Given the description of an element on the screen output the (x, y) to click on. 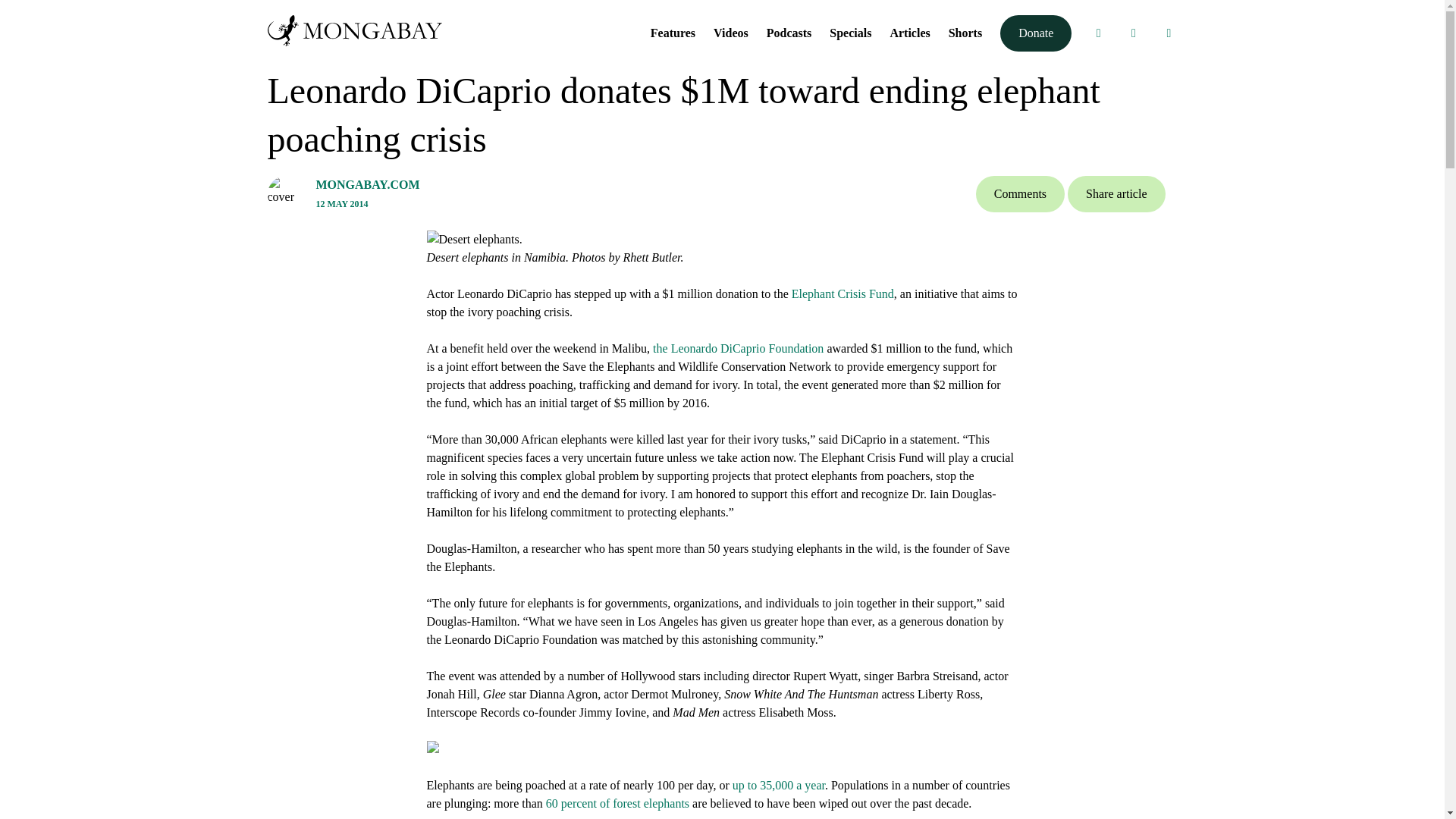
Features (672, 32)
Specials (849, 32)
Videos (730, 32)
Shorts (965, 32)
Donate (1035, 33)
Podcasts (789, 32)
Articles (909, 32)
